Given the description of an element on the screen output the (x, y) to click on. 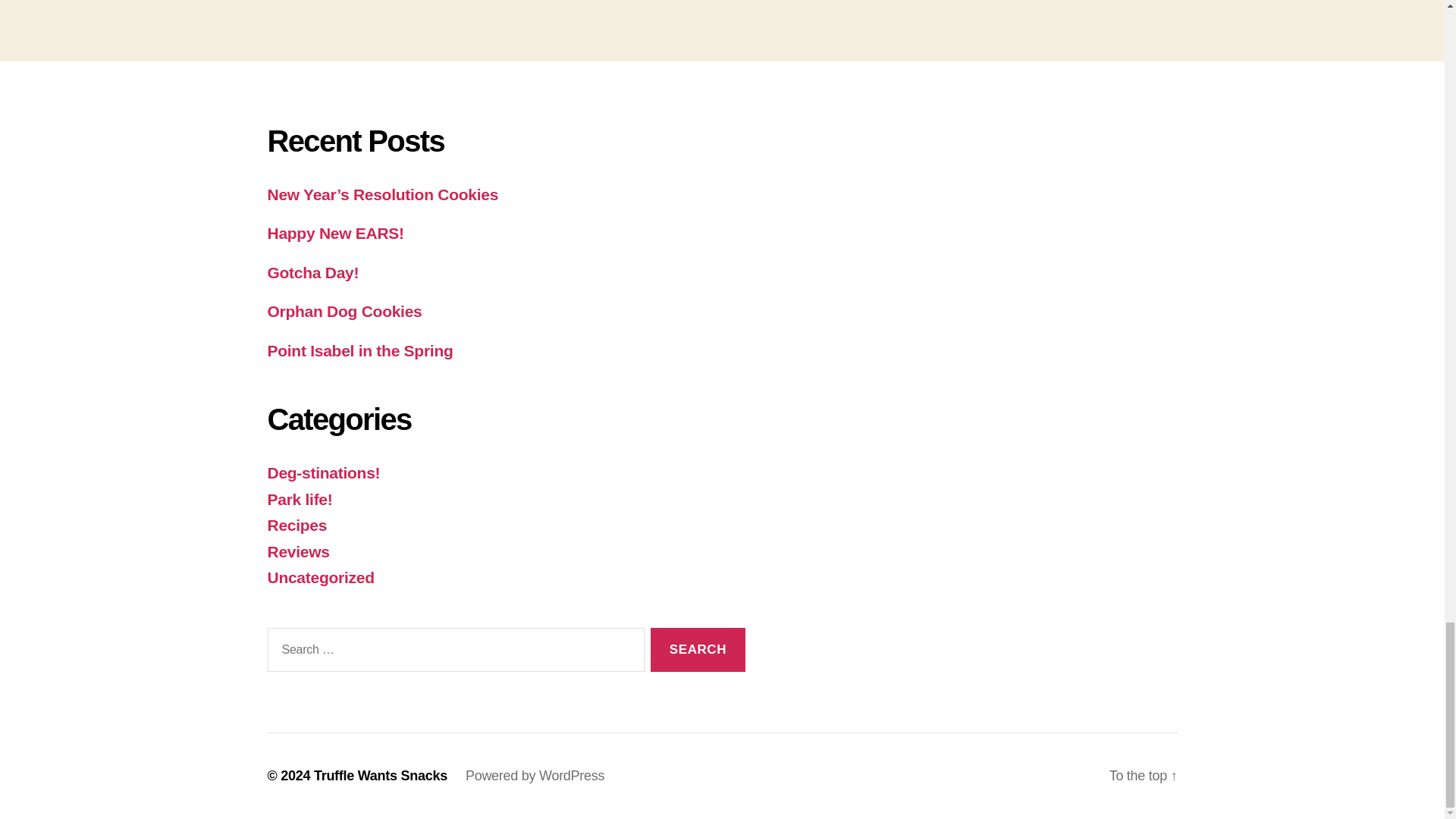
Reviews (297, 551)
Recipes (296, 524)
Point Isabel in the Spring (359, 350)
Powered by WordPress (534, 775)
Search (697, 650)
Search (697, 650)
Uncategorized (320, 577)
Gotcha Day! (312, 272)
Search (697, 650)
Happy New EARS! (334, 232)
Truffle Wants Snacks (380, 775)
Park life! (298, 498)
Orphan Dog Cookies (344, 311)
Deg-stinations! (323, 472)
